Given the description of an element on the screen output the (x, y) to click on. 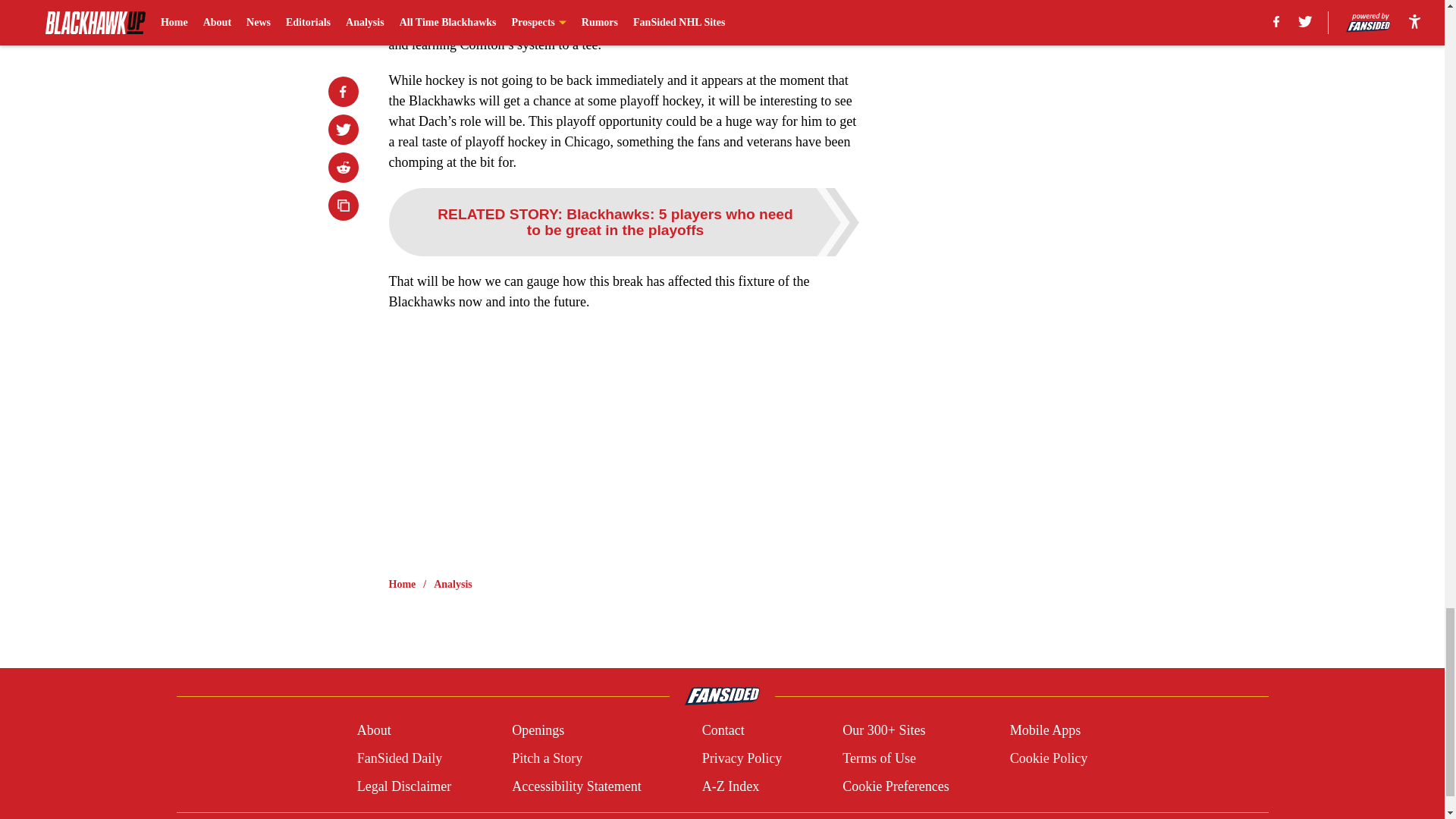
FanSided Daily (399, 758)
Privacy Policy (742, 758)
Contact (722, 730)
Terms of Use (879, 758)
Openings (538, 730)
Home (401, 584)
Pitch a Story (547, 758)
Analysis (452, 584)
Mobile Apps (1045, 730)
About (373, 730)
